Given the description of an element on the screen output the (x, y) to click on. 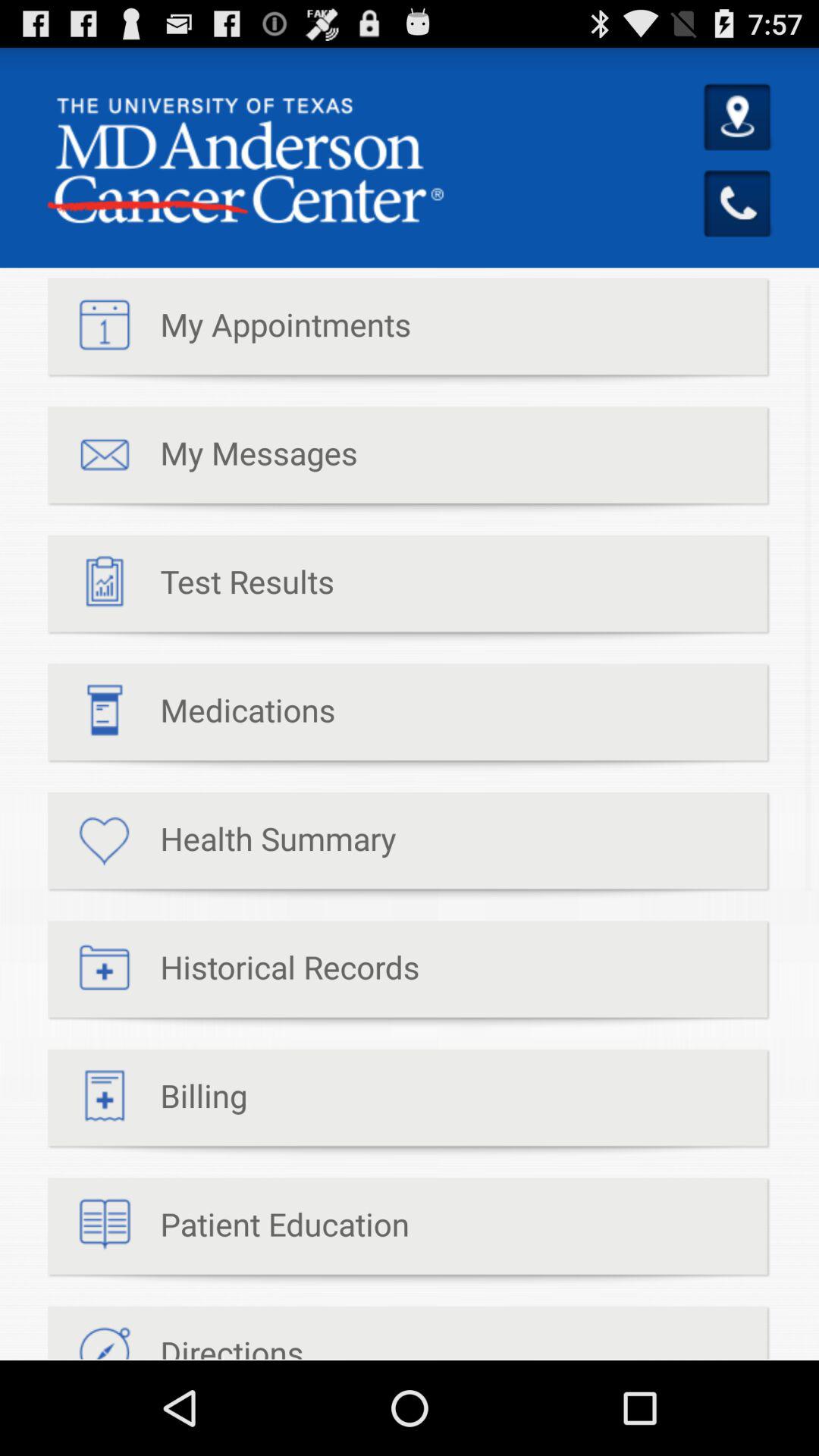
turn on item below the test results icon (191, 717)
